Given the description of an element on the screen output the (x, y) to click on. 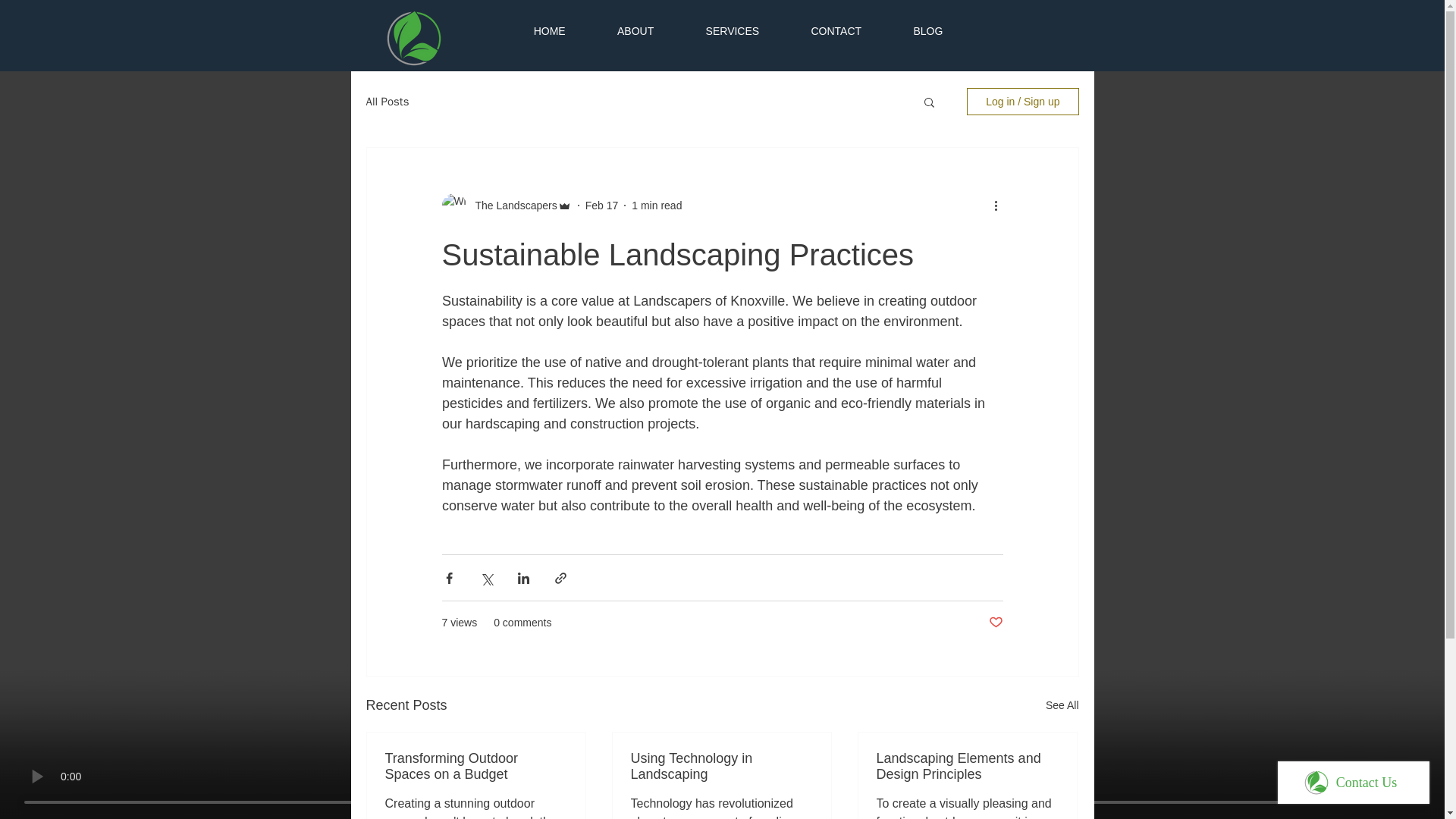
CONTACT (835, 30)
SERVICES (731, 30)
BLOG (927, 30)
Feb 17 (601, 204)
Transforming Outdoor Spaces on a Budget (476, 766)
All Posts (387, 101)
Post not marked as liked (995, 622)
1 min read (656, 204)
HOME (549, 30)
Using Technology in Landscaping (721, 766)
See All (1061, 705)
The Landscapers (510, 204)
ABOUT (635, 30)
Landscaping Elements and Design Principles (967, 766)
